Given the description of an element on the screen output the (x, y) to click on. 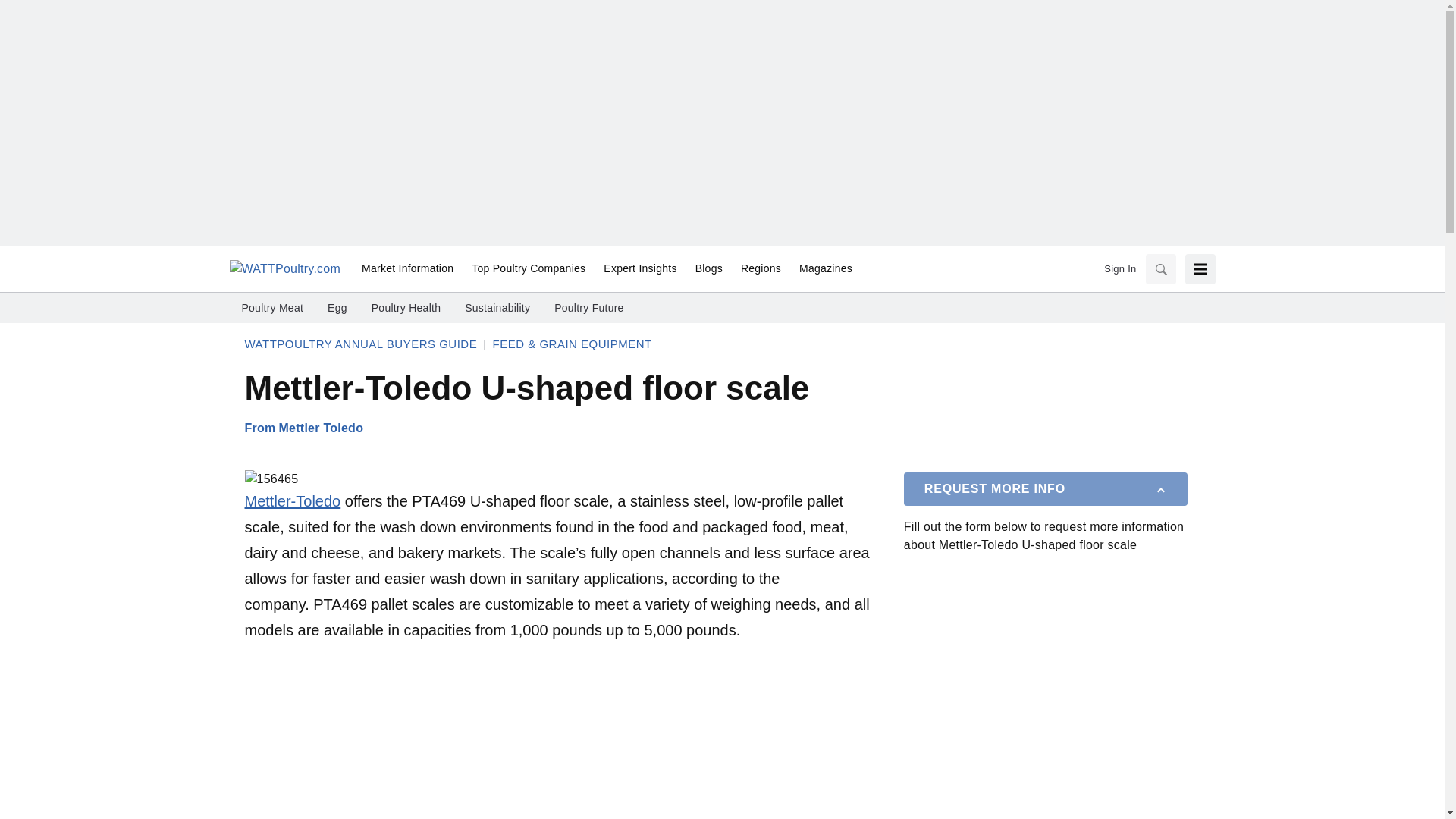
Blogs (708, 269)
Regions (761, 269)
Magazines (820, 269)
Egg (337, 307)
WATTPoultry Annual Buyers Guide (360, 343)
Sustainability (496, 307)
Poultry Meat (271, 307)
Poultry Future (588, 307)
Top Poultry Companies (528, 269)
Sign In (1119, 268)
